Given the description of an element on the screen output the (x, y) to click on. 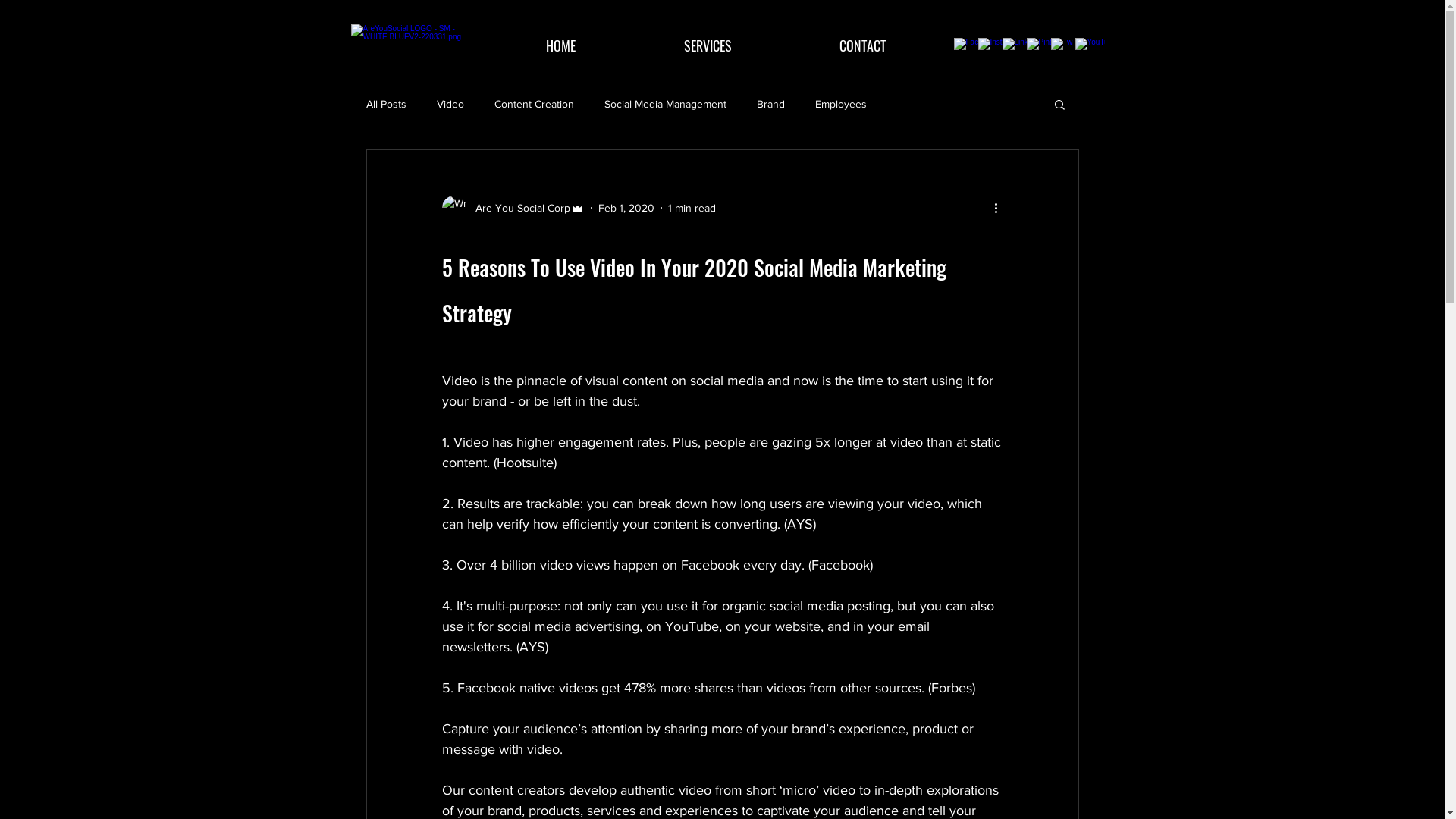
Video Element type: text (450, 103)
HOME Element type: text (560, 45)
CONTACT Element type: text (862, 45)
Social Media Management Element type: text (664, 103)
All Posts Element type: text (385, 103)
Content Creation Element type: text (534, 103)
Are You Social Corp Element type: text (512, 207)
Brand Element type: text (770, 103)
Employees Element type: text (840, 103)
SERVICES Element type: text (706, 45)
